Given the description of an element on the screen output the (x, y) to click on. 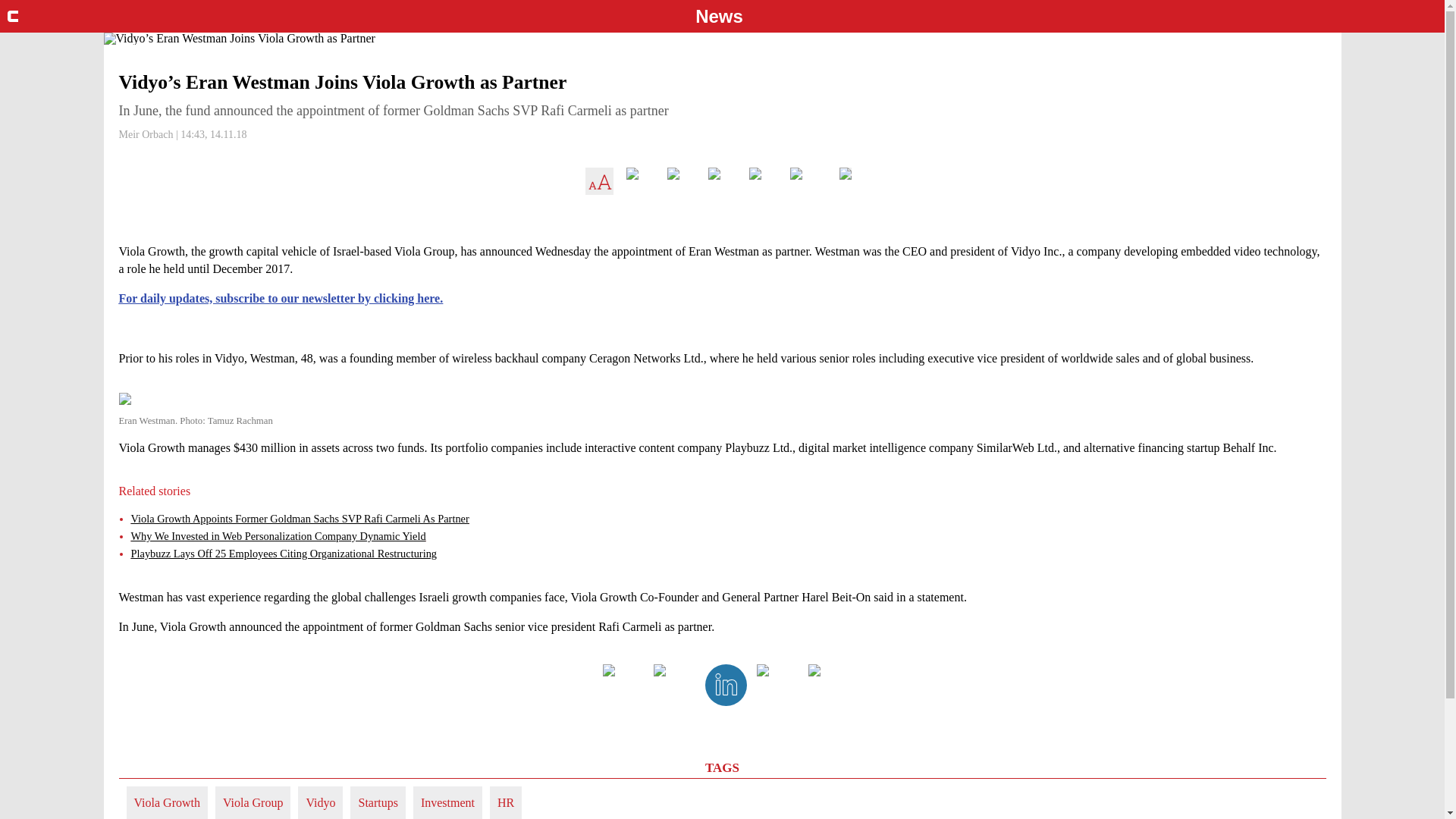
Viola Group (252, 802)
News (719, 16)
News (719, 16)
Eran Westman. Photo: Tamuz Rachman (720, 409)
Vidyo (320, 802)
Calcalistech (12, 16)
Calcalistech Home Page (19, 15)
